Given the description of an element on the screen output the (x, y) to click on. 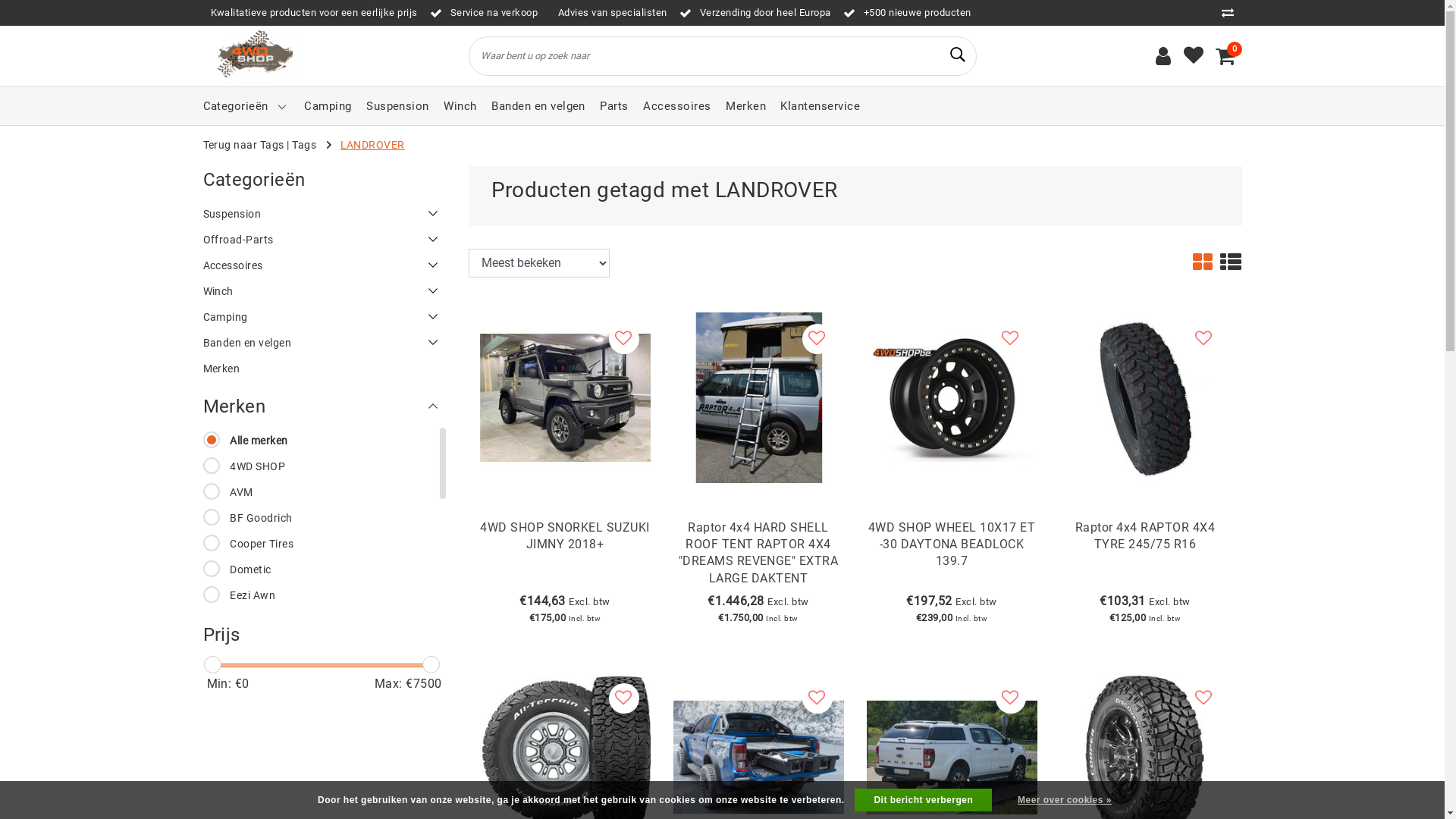
Merken Element type: text (324, 406)
Accessoires Element type: text (324, 265)
Zoeken Element type: hover (957, 55)
Dit bericht verbergen Element type: text (922, 799)
Tags Element type: text (303, 144)
Winch Element type: text (459, 106)
Offroad-Parts Element type: text (324, 239)
Advies van specialisten Element type: text (608, 12)
31x10.5-15 COOPER Discoverer STT PRO POR 109Q Element type: hover (1145, 755)
Suspension Element type: text (324, 213)
WHEEL 10X17 ET -30 DAYTONA BEADLOCK 139.7 Element type: hover (951, 396)
Merken Element type: text (324, 368)
Banden en velgen Element type: text (324, 342)
Hard top - Type-E - Ford Ranger (2012 - 2016 - 2019 -) Element type: hover (951, 755)
Suspension Element type: text (397, 106)
Banden en velgen Element type: text (538, 106)
Camping Element type: text (324, 316)
0 Element type: text (1225, 55)
+500 nieuwe producten Element type: text (907, 12)
Service na verkoop Element type: text (483, 12)
Vergelijk Element type: hover (1231, 12)
Klantenservice Element type: text (819, 106)
Merken Element type: text (745, 106)
Inloggen Element type: hover (1162, 55)
285/70-17 BFGoodrich All-Terrain T/A KO2 116/113S 6PR Element type: hover (564, 755)
4WD Shop Element type: hover (253, 56)
Raptor 4x4 RAPTOR 4X4 TYRE 245/75 R16 Element type: text (1145, 555)
Camping Element type: text (327, 106)
Terug naar Tags Element type: text (243, 144)
Accessoires Element type: text (676, 106)
LANDROVER Element type: text (372, 144)
SNORKEL SUZUKI JIMNY  2018+ Element type: hover (564, 396)
Verzending door heel Europa Element type: text (754, 12)
RAPTOR 4X4 TYRE 245/75 R16 Element type: hover (1145, 396)
4WD SHOP SNORKEL SUZUKI JIMNY 2018+ Element type: text (564, 555)
Parts Element type: text (613, 106)
Verlanglijst Element type: hover (1193, 55)
DECKED bed storage systems - Ford Ranger (2012 -) Element type: hover (758, 755)
4WD SHOP WHEEL 10X17 ET -30 DAYTONA BEADLOCK 139.7 Element type: text (951, 555)
Winch Element type: text (324, 291)
